Given the description of an element on the screen output the (x, y) to click on. 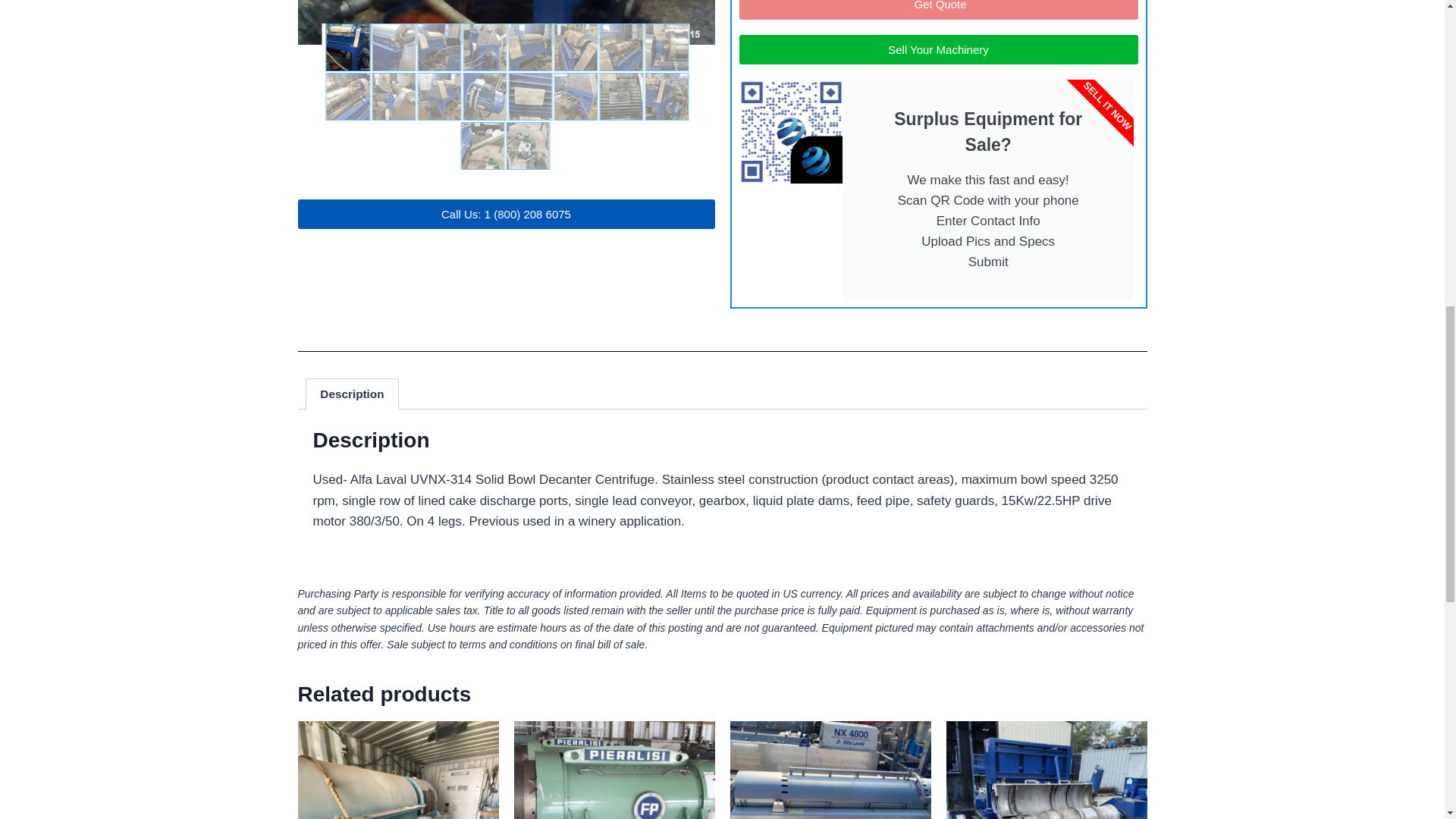
Get Quote (937, 9)
Sell Your Machinery (937, 49)
Description (351, 394)
